Given the description of an element on the screen output the (x, y) to click on. 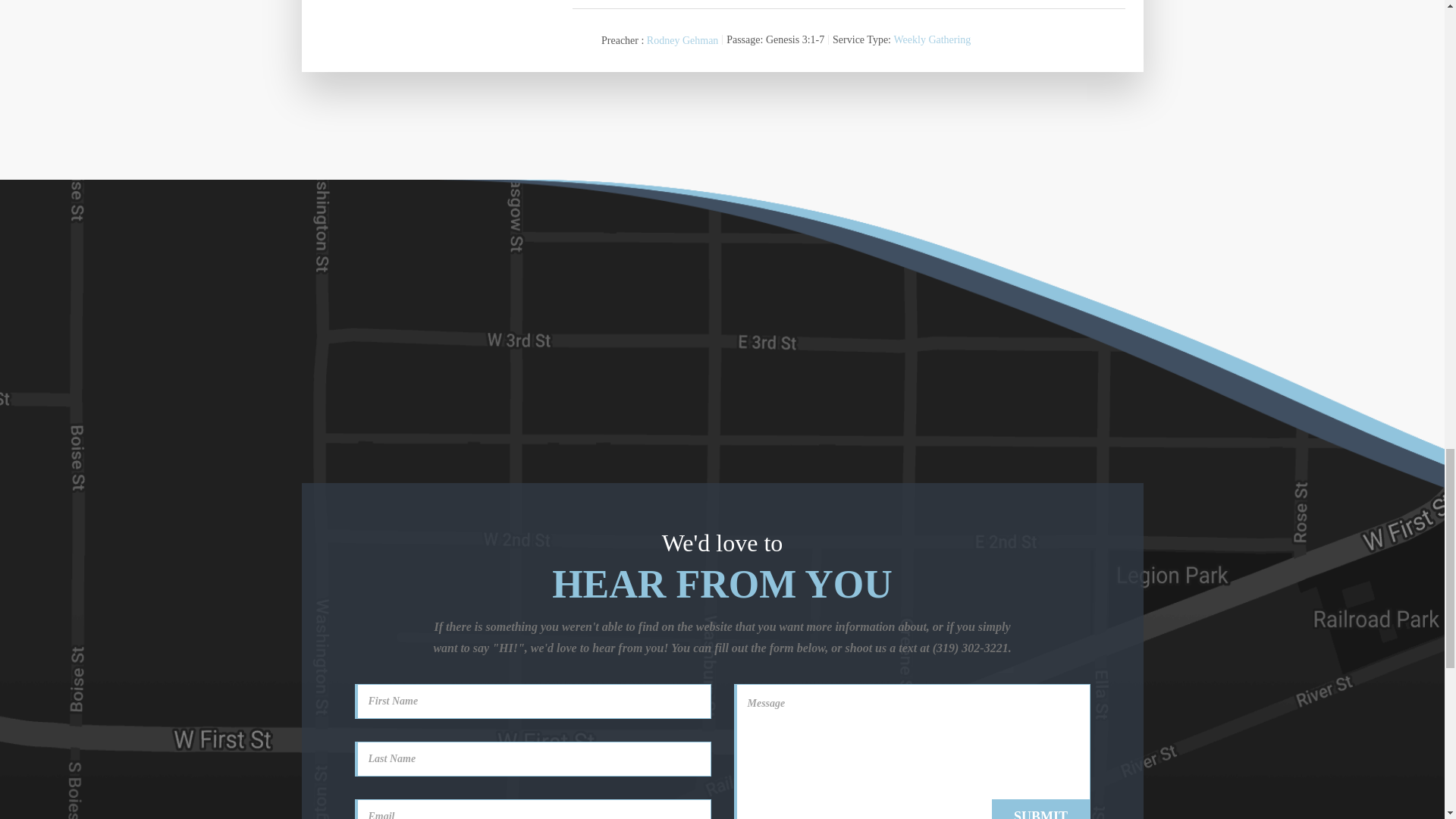
Submit (1040, 809)
